Given the description of an element on the screen output the (x, y) to click on. 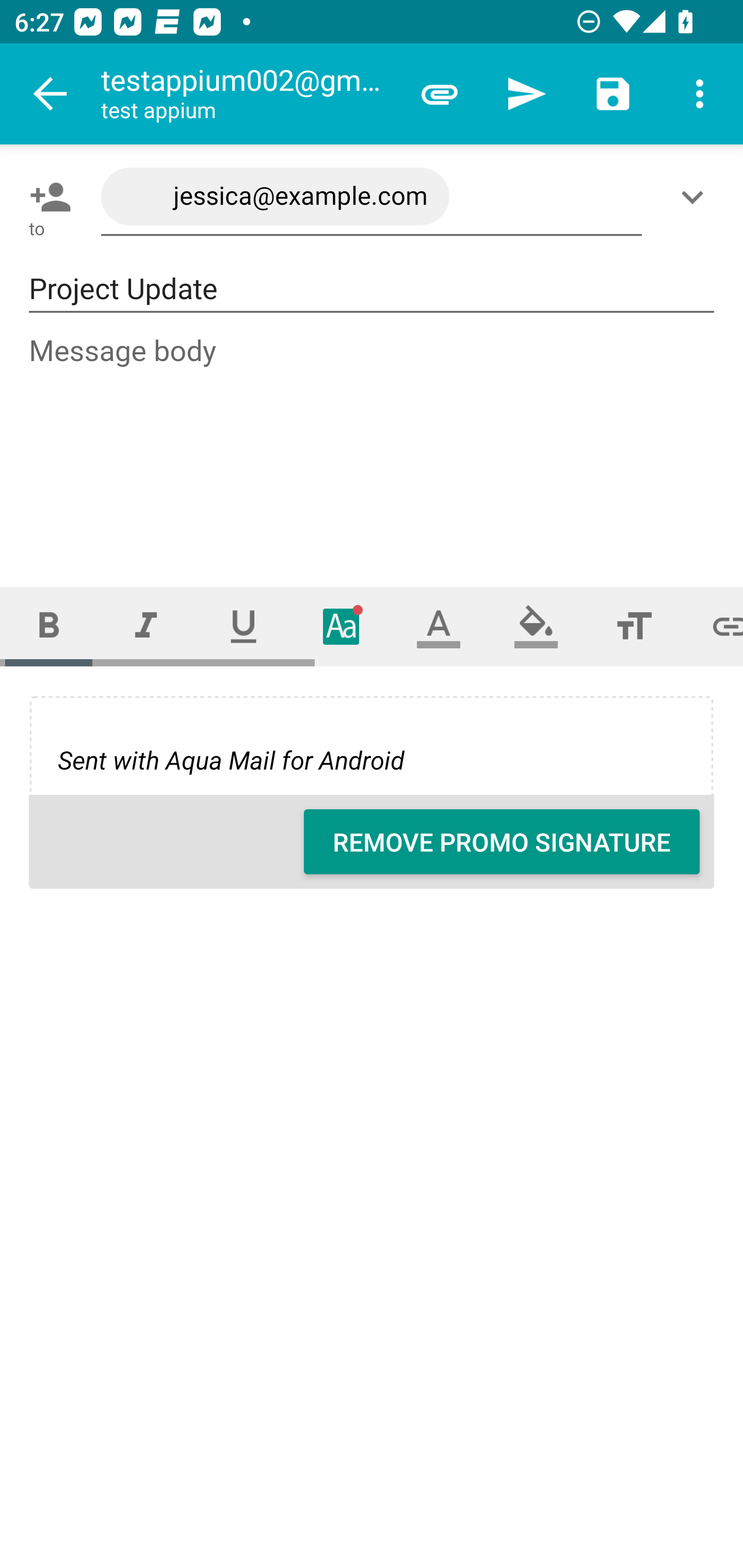
Navigate up (50, 93)
testappium002@gmail.com test appium (248, 93)
Attach (439, 93)
Send (525, 93)
Save (612, 93)
More options (699, 93)
jessica@example.com,  (371, 197)
Pick contact: To (46, 196)
Show/Add CC/BCC (696, 196)
Project Update (371, 288)
Message body (372, 442)
Bold (48, 626)
Italic (145, 626)
Underline (243, 626)
Typeface (font) (341, 626)
Text color (438, 626)
Fill color (536, 626)
Font size (633, 626)
REMOVE PROMO SIGNATURE (501, 841)
